Given the description of an element on the screen output the (x, y) to click on. 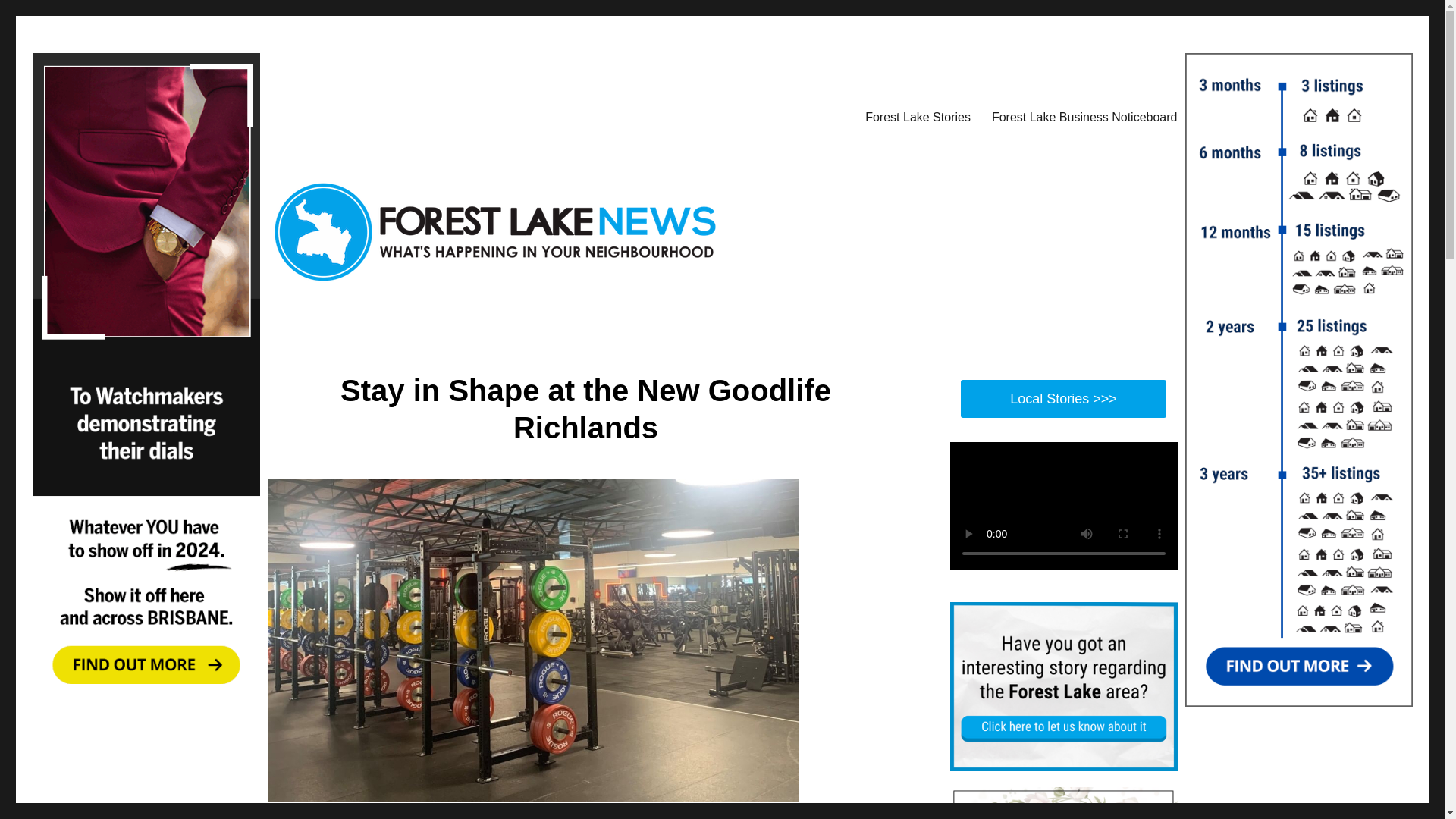
Forest Lake Business Noticeboard (1084, 116)
Forest Lake Stories (917, 116)
Forest Lake News (356, 114)
